Given the description of an element on the screen output the (x, y) to click on. 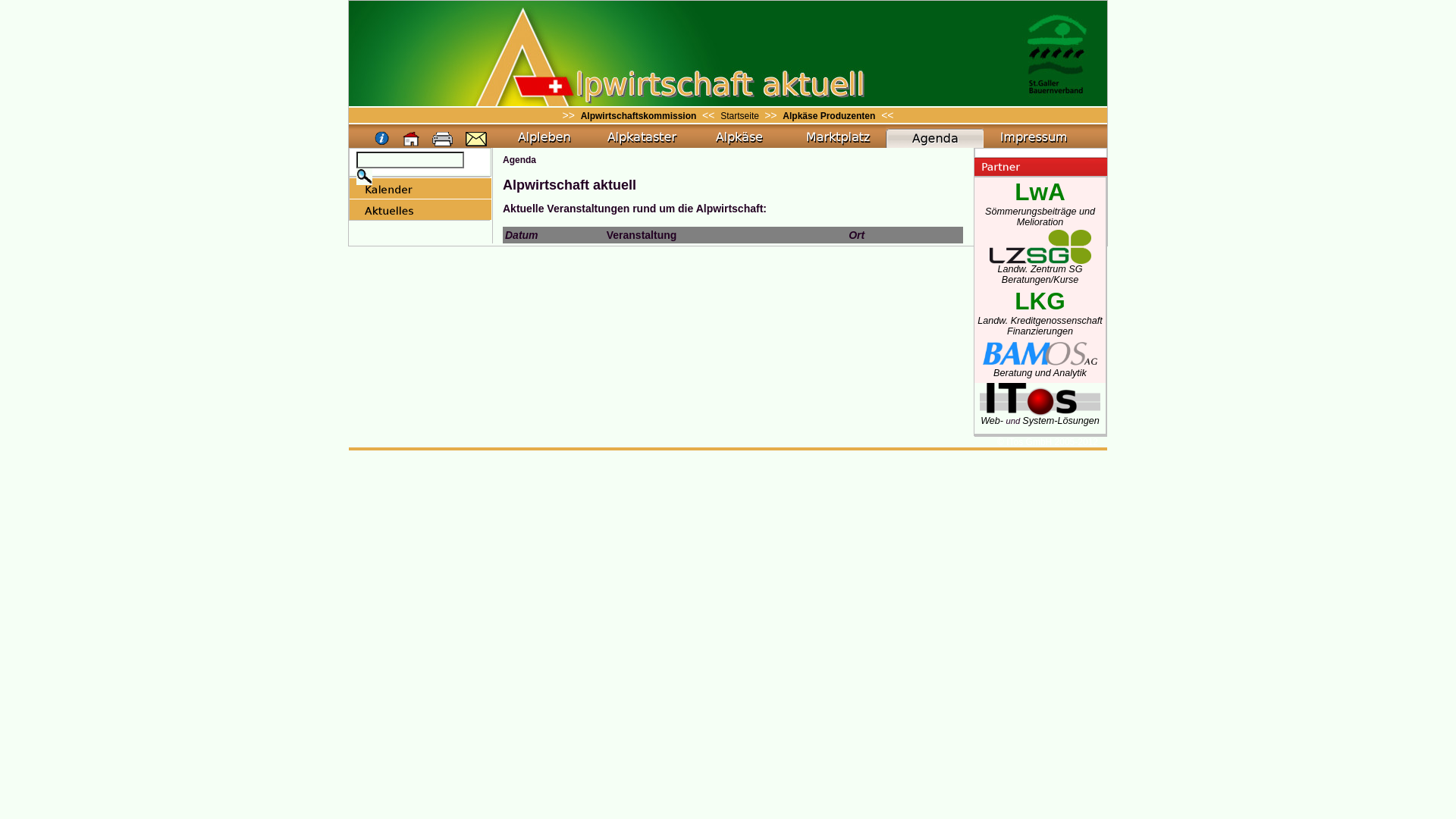
Web- Element type: text (992, 420)
System- Element type: text (1039, 420)
Alpwirtschaftskommission Element type: text (638, 115)
Beratung und Analytik Element type: text (1040, 368)
Bamos AG Element type: hover (1040, 352)
submit Element type: hover (364, 176)
Info Element type: hover (382, 139)
Landw. Zentrum SG Beratungen/Kurse Element type: text (1039, 270)
LKG
Landw. Kreditgenossenschaft Finanzierungen Element type: text (1039, 318)
Startseite Element type: text (740, 115)
Home Element type: hover (411, 139)
ITos GmbH Element type: hover (1039, 409)
LZSG Element type: hover (1039, 246)
Print Element type: hover (442, 139)
Mail Element type: hover (476, 139)
